Given the description of an element on the screen output the (x, y) to click on. 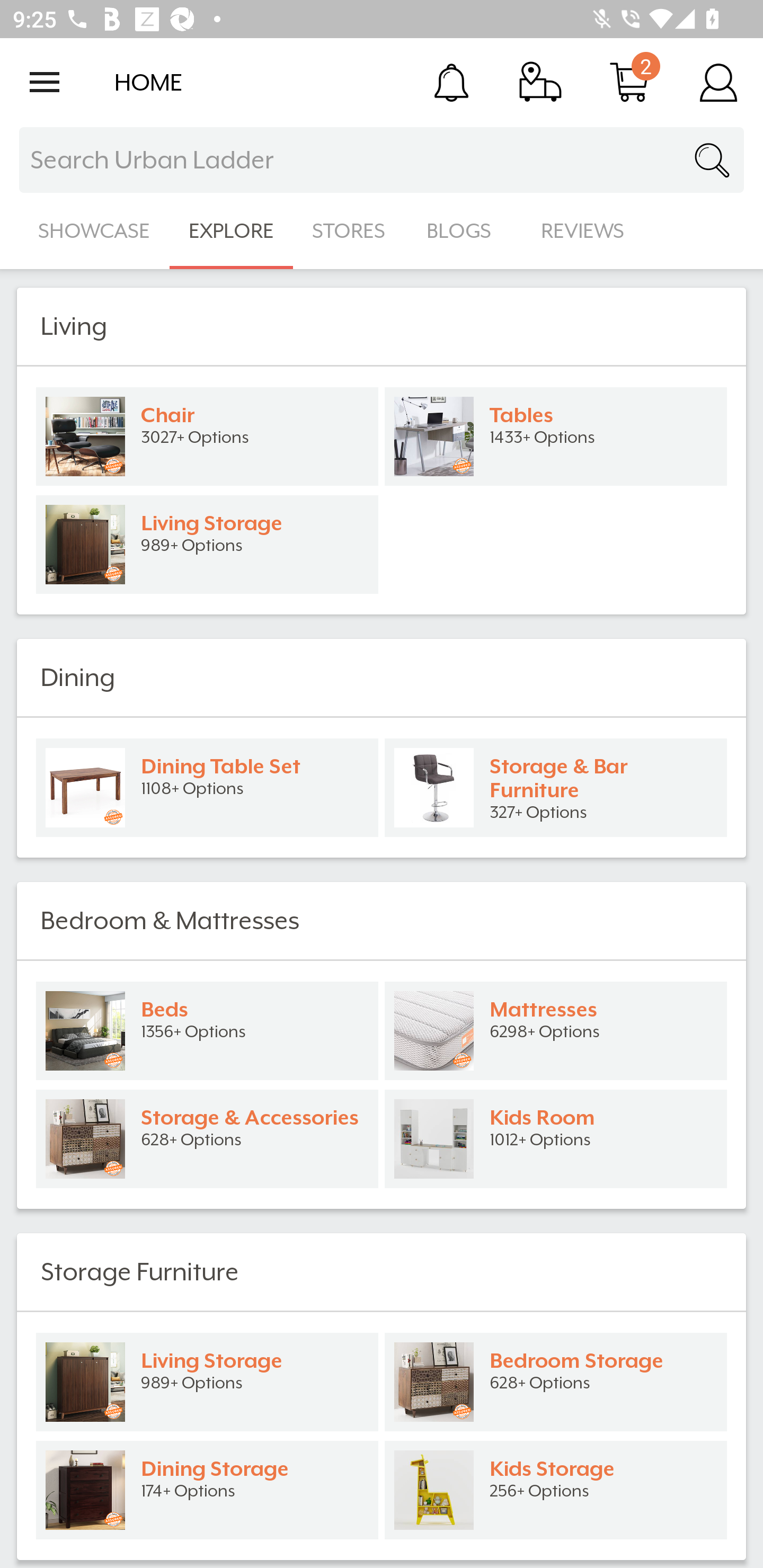
Open navigation drawer (44, 82)
Notification (450, 81)
Track Order (540, 81)
Cart (629, 81)
Account Details (718, 81)
Search Urban Ladder  (381, 159)
SHOWCASE (94, 230)
EXPLORE (230, 230)
STORES (349, 230)
BLOGS (464, 230)
REVIEWS (582, 230)
Chair 3027+ Options (206, 436)
Tables 1433+ Options (555, 436)
Living Storage 989+ Options (206, 544)
Dining Table Set 1108+ Options (206, 787)
Storage & Bar Furniture 327+ Options (555, 787)
Beds 1356+ Options (206, 1030)
Mattresses 6298+ Options (555, 1030)
Storage & Accessories 628+ Options (206, 1139)
Kids Room 1012+ Options (555, 1139)
Living Storage 989+ Options (206, 1382)
Bedroom Storage 628+ Options (555, 1382)
Dining Storage 174+ Options (206, 1490)
Kids Storage 256+ Options (555, 1490)
